Given the description of an element on the screen output the (x, y) to click on. 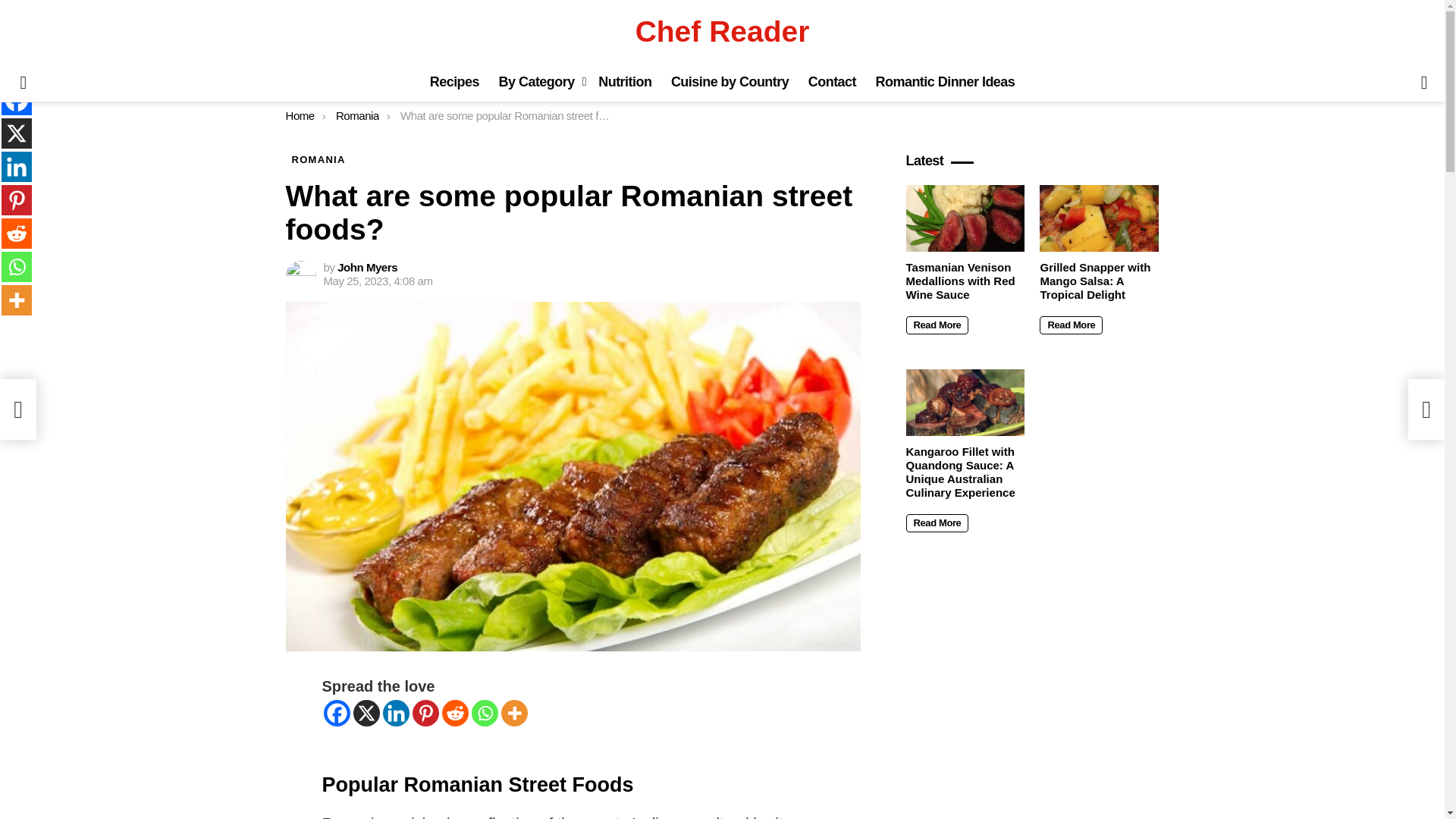
By Category (539, 81)
John Myers (367, 267)
Reddit (16, 233)
X (16, 132)
Romania (357, 115)
Chef Reader (721, 31)
Linkedin (16, 166)
More (513, 713)
X (366, 713)
Reddit (454, 713)
